Given the description of an element on the screen output the (x, y) to click on. 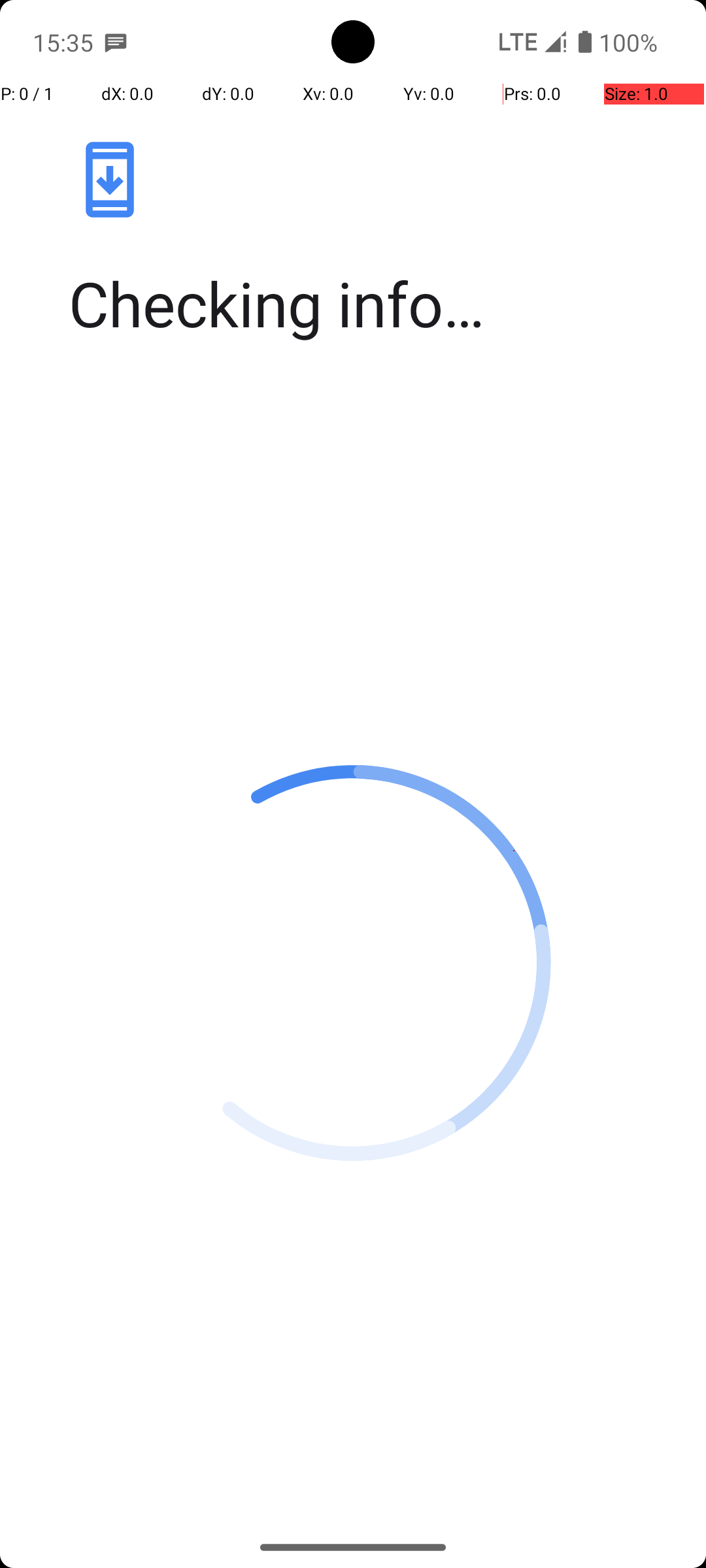
Checking info… Element type: android.widget.TextView (366, 302)
